Given the description of an element on the screen output the (x, y) to click on. 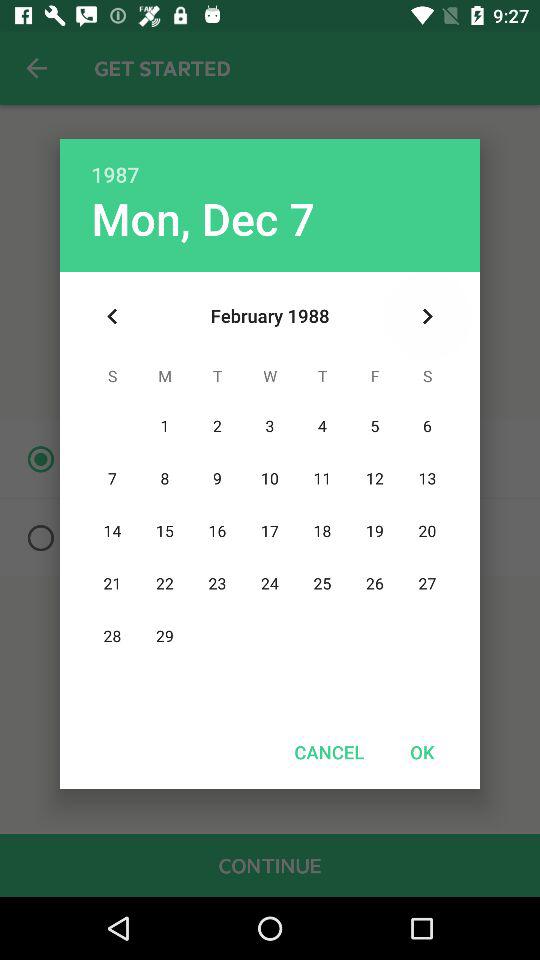
press the 1987 icon (269, 163)
